Given the description of an element on the screen output the (x, y) to click on. 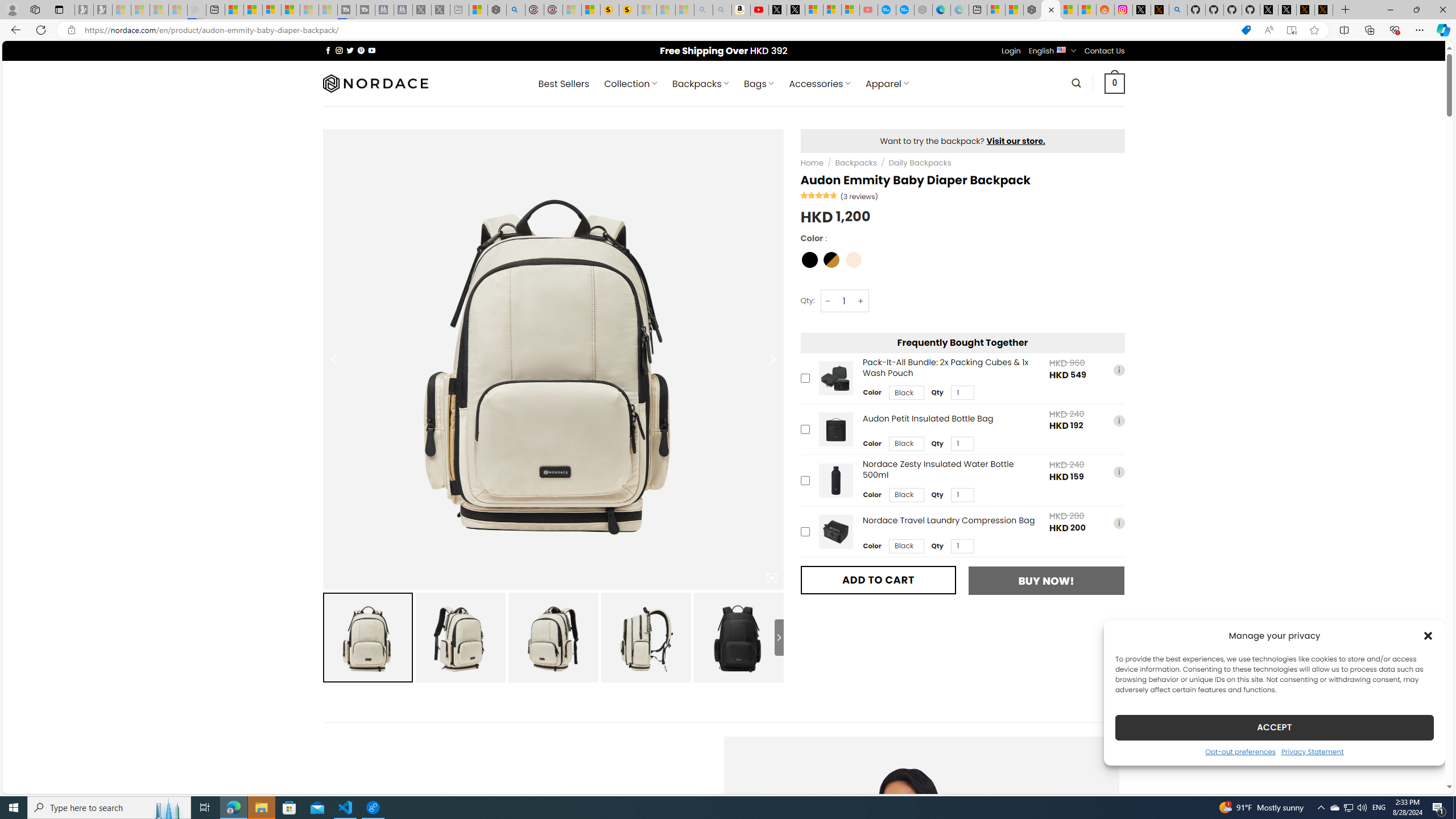
Overview (271, 9)
Class: iconic-woothumbs-fullscreen (771, 577)
This site has coupons! Shopping in Microsoft Edge (1245, 29)
+ (861, 300)
Newsletter Sign Up - Sleeping (102, 9)
github - Search (1178, 9)
